Given the description of an element on the screen output the (x, y) to click on. 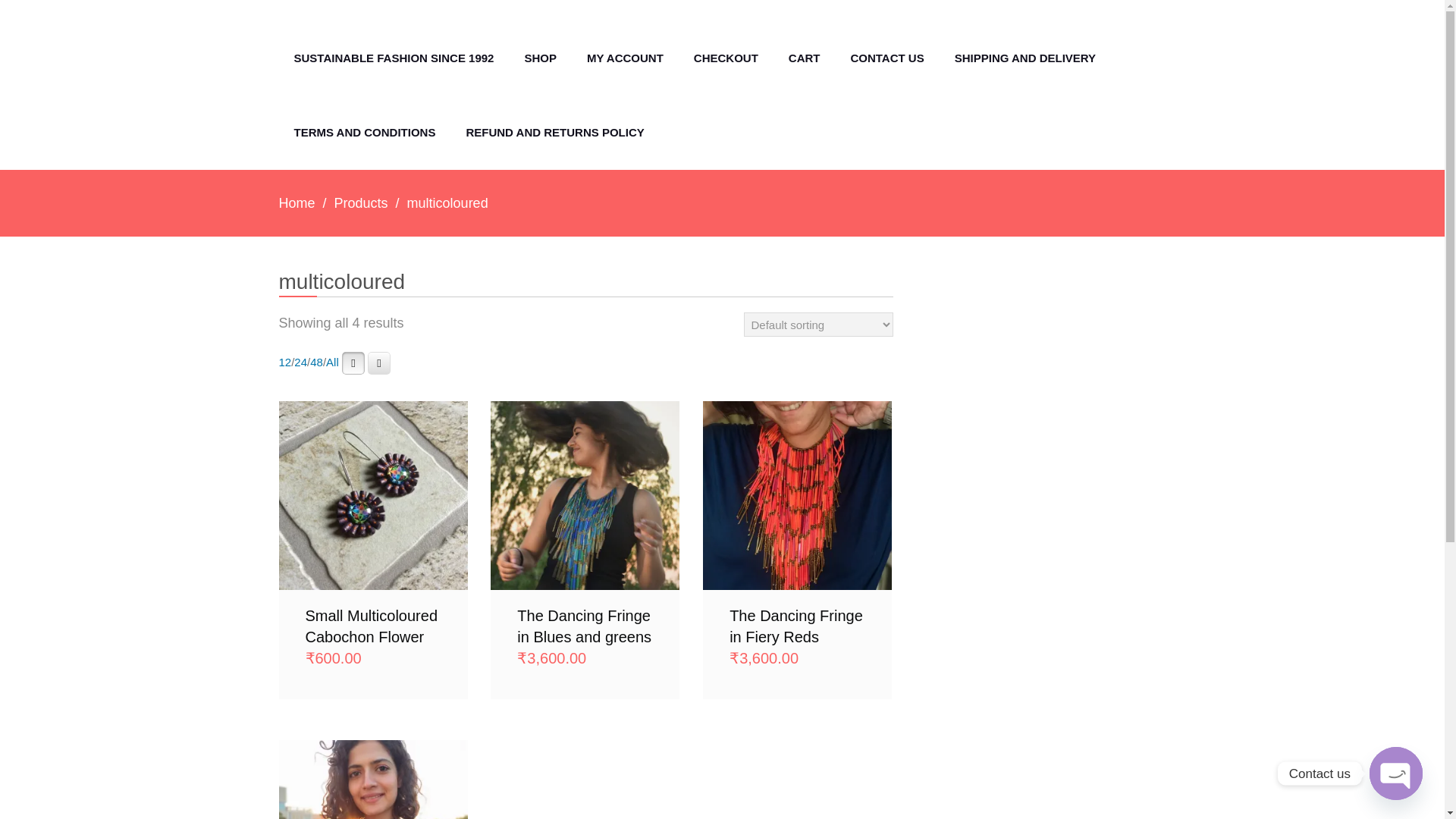
Home (297, 202)
MY ACCOUNT (625, 58)
SHIPPING AND DELIVERY (1024, 58)
REFUND AND RETURNS POLICY (554, 132)
Products (361, 202)
SUSTAINABLE FASHION SINCE 1992 (394, 58)
TERMS AND CONDITIONS (365, 132)
All (332, 362)
24 (300, 362)
CONTACT US (886, 58)
12 (285, 362)
CHECKOUT (725, 58)
48 (316, 362)
